Given the description of an element on the screen output the (x, y) to click on. 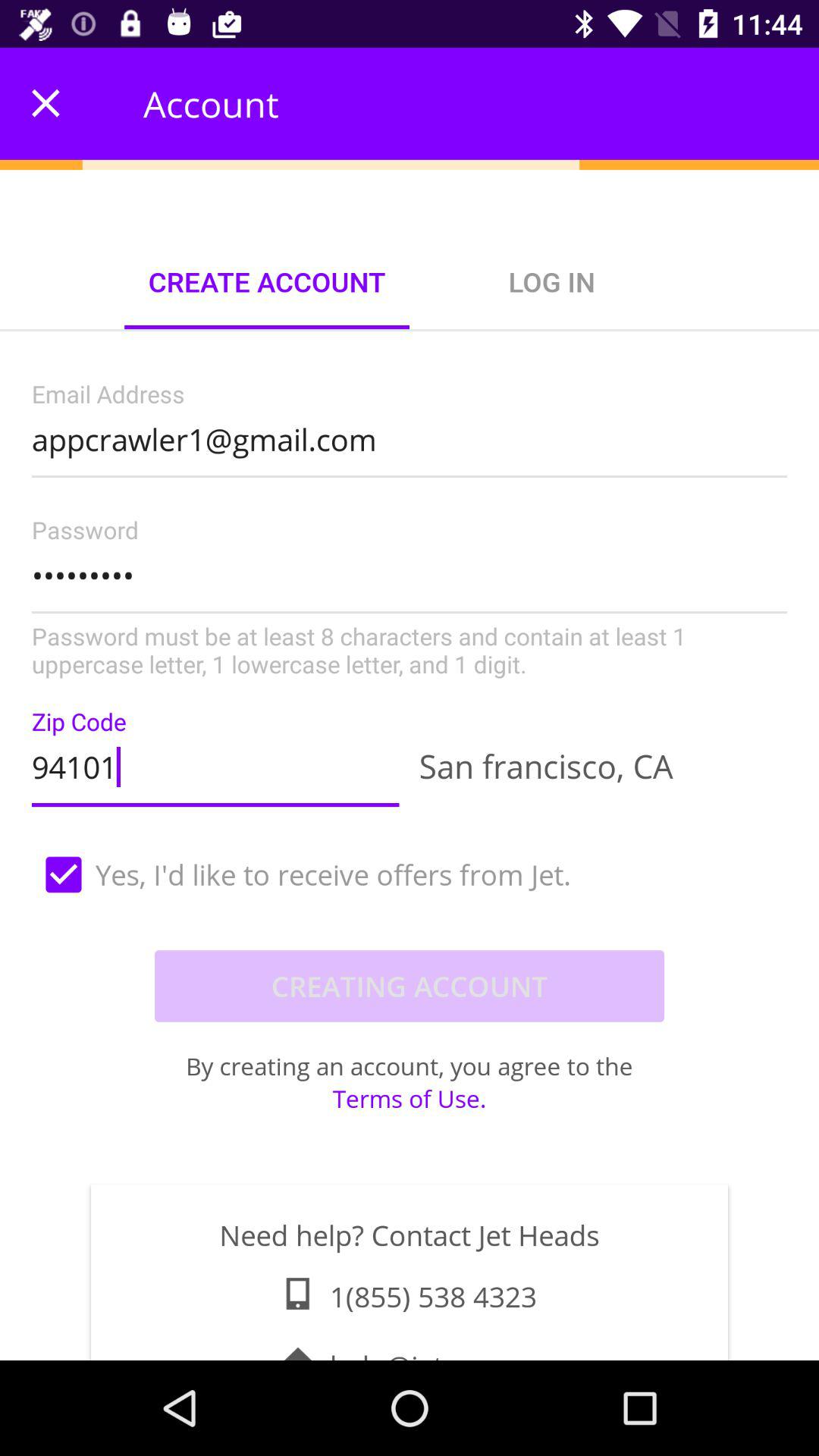
turn on the crowd3116 (409, 599)
